Given the description of an element on the screen output the (x, y) to click on. 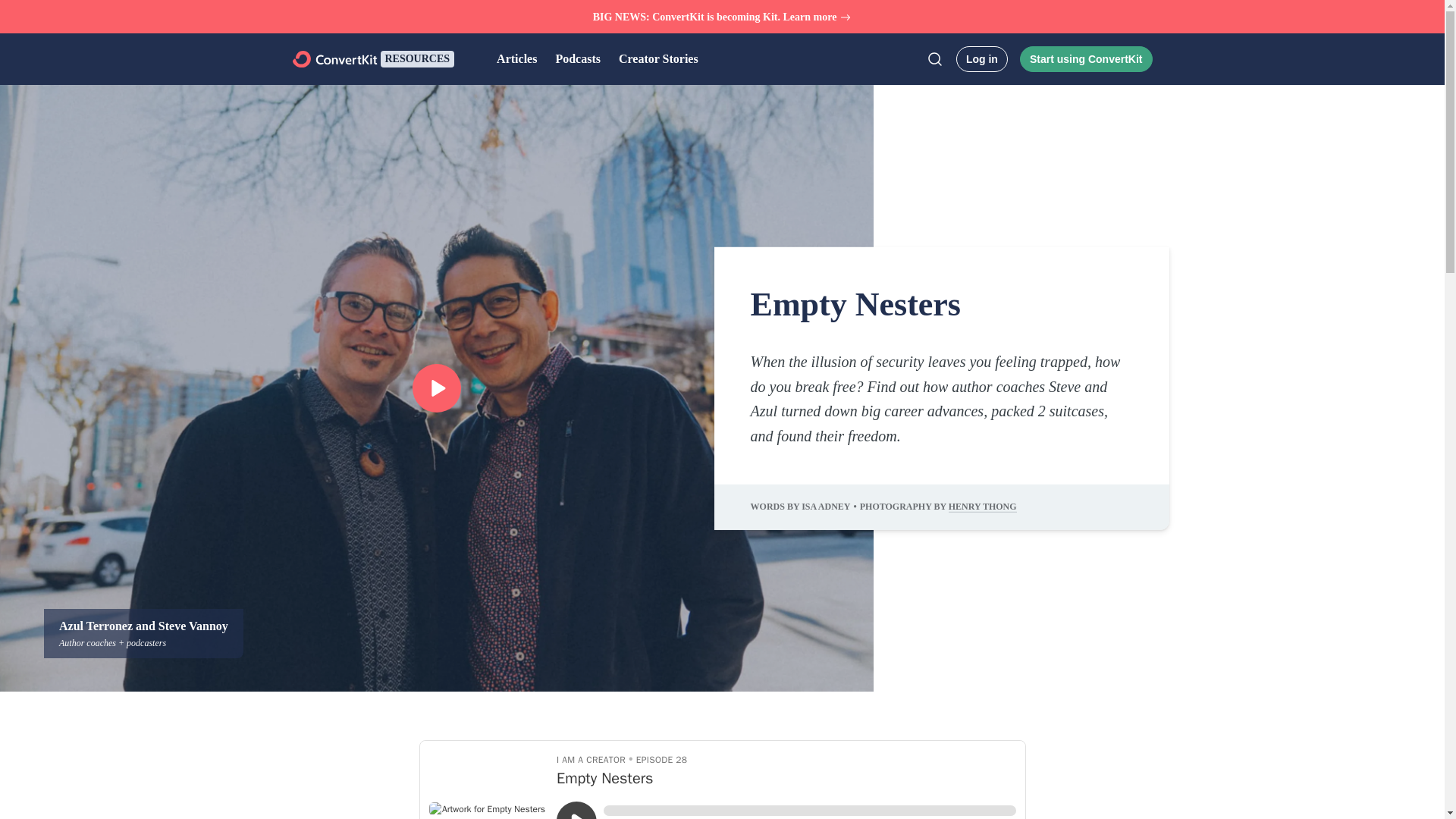
RESOURCES (417, 58)
HENRY THONG (982, 506)
Log in (981, 58)
Start using ConvertKit (1086, 58)
Articles (516, 58)
Creator Stories (658, 58)
Podcasts (576, 58)
